Given the description of an element on the screen output the (x, y) to click on. 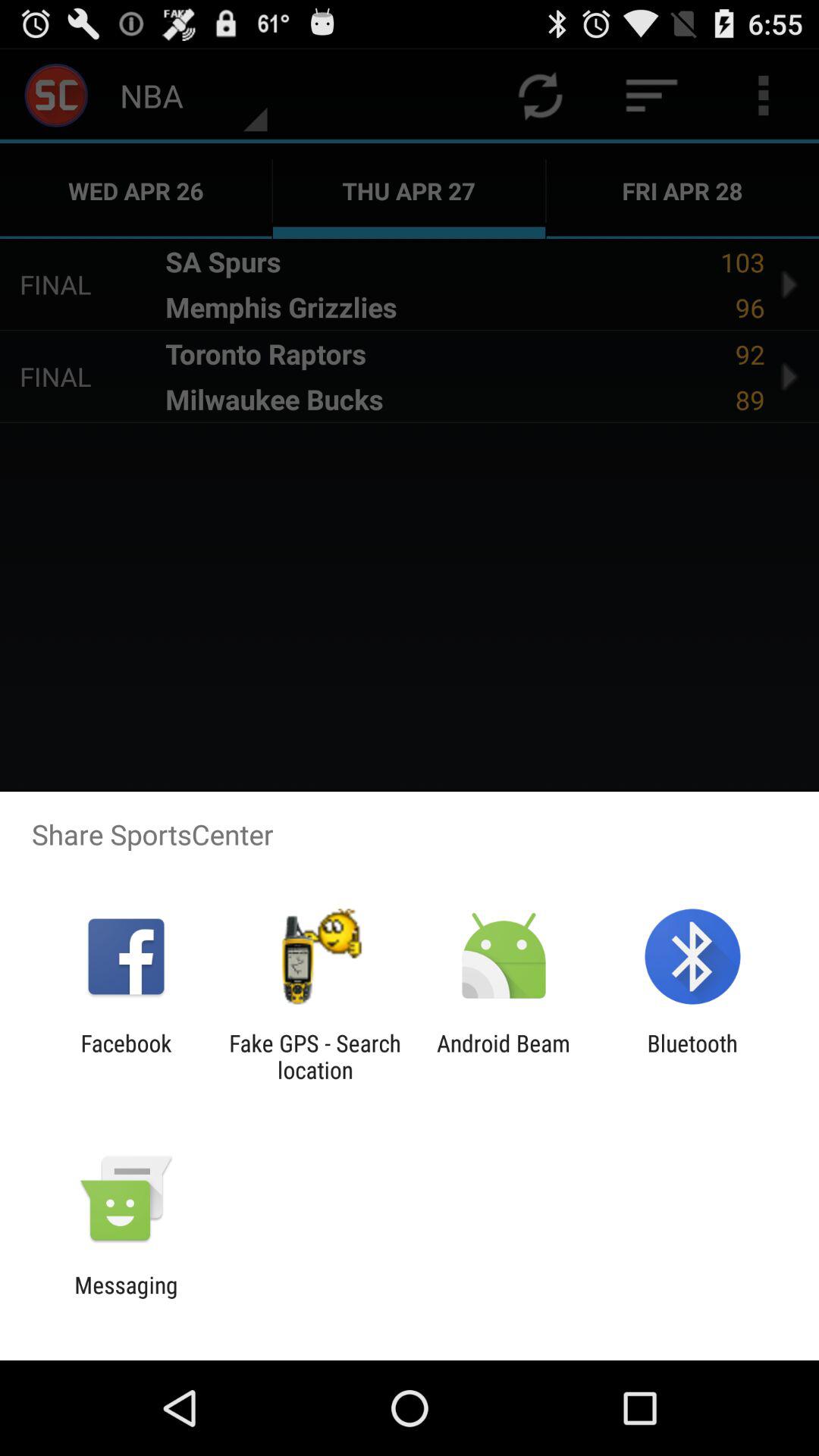
turn off the fake gps search icon (314, 1056)
